Given the description of an element on the screen output the (x, y) to click on. 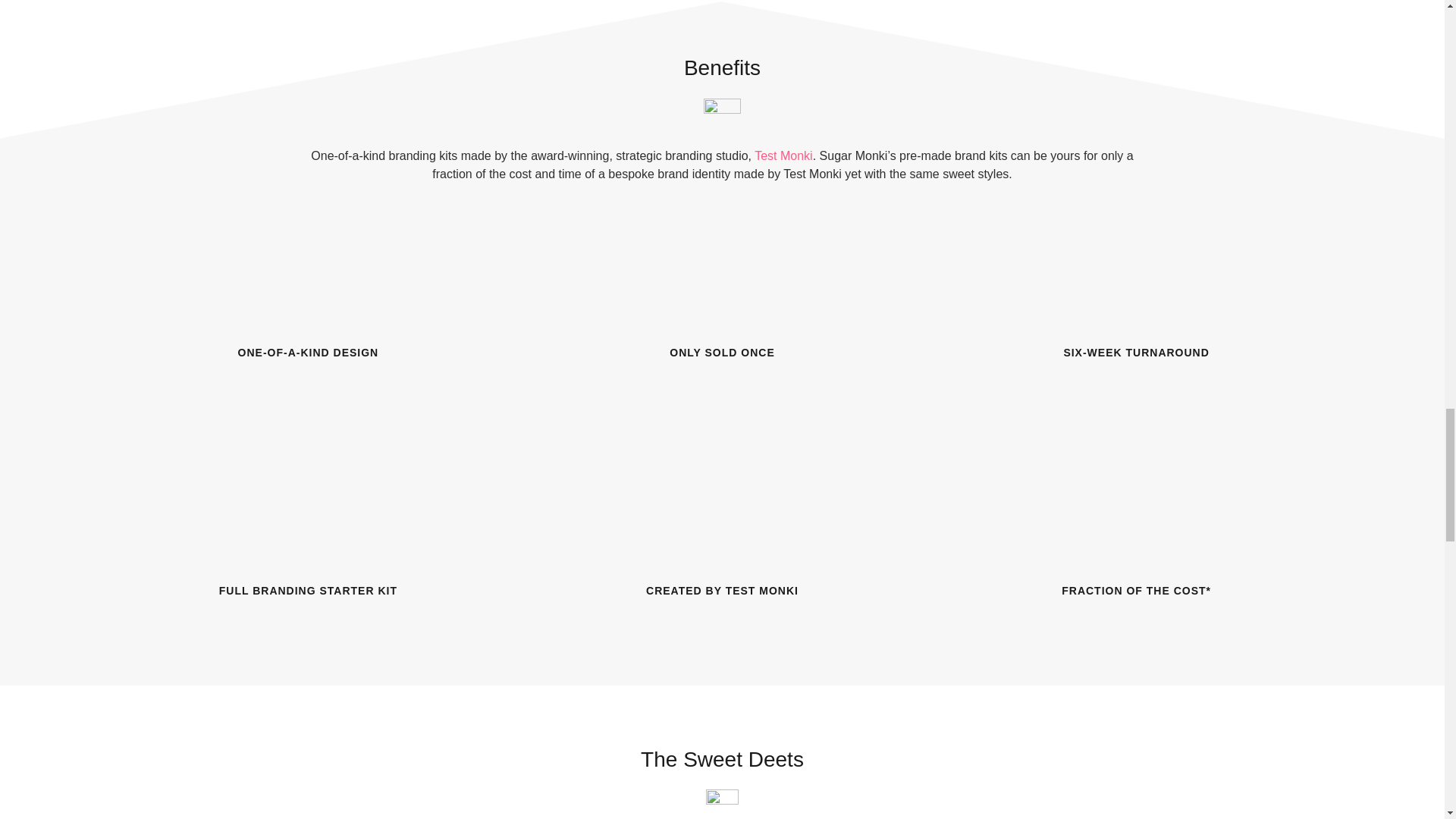
Test Monki (783, 155)
